Given the description of an element on the screen output the (x, y) to click on. 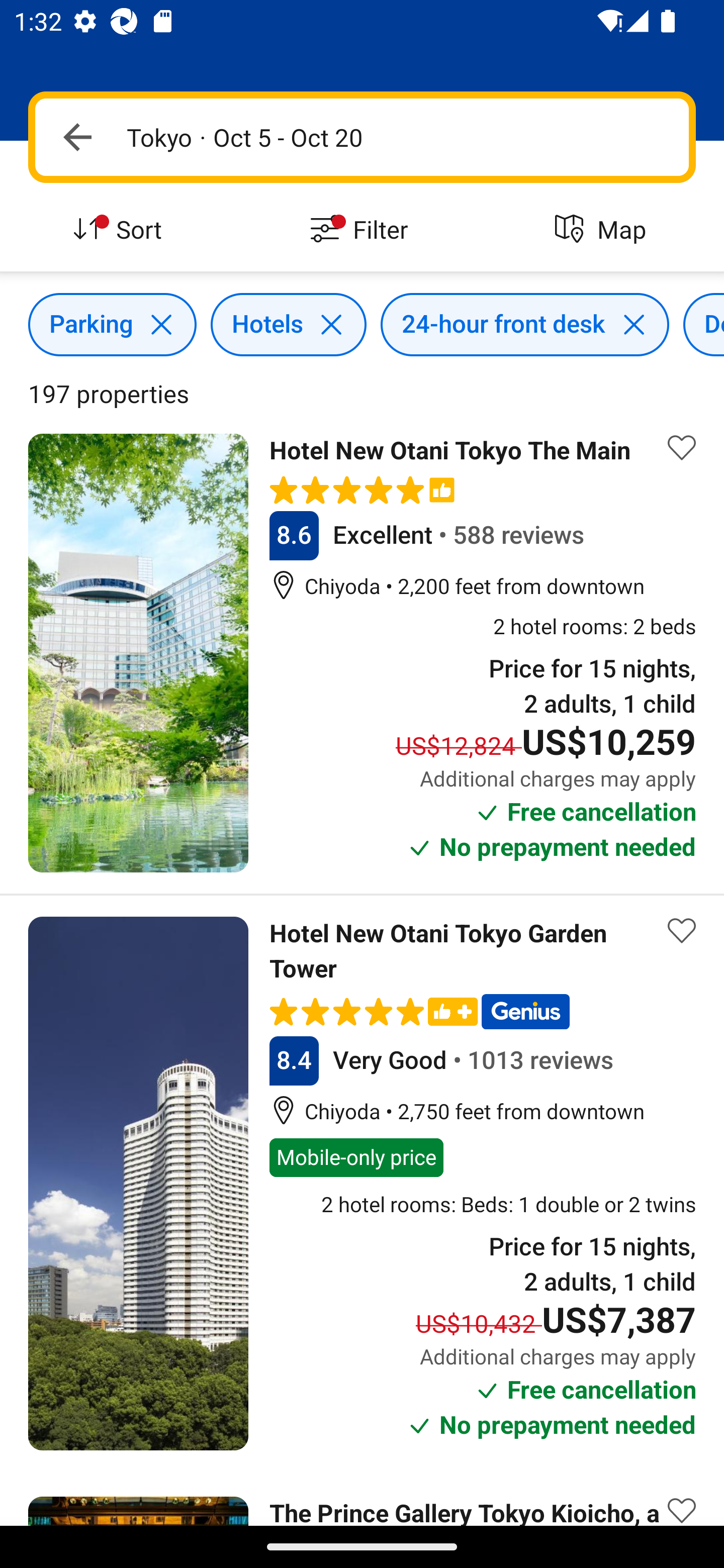
Navigate up Tokyo · Oct 5 - Oct 20 (362, 136)
Navigate up (77, 136)
Sort (120, 230)
Filter (361, 230)
Map (603, 230)
Save property to list (681, 447)
Save property to list (681, 931)
Save property to list (681, 1497)
